Given the description of an element on the screen output the (x, y) to click on. 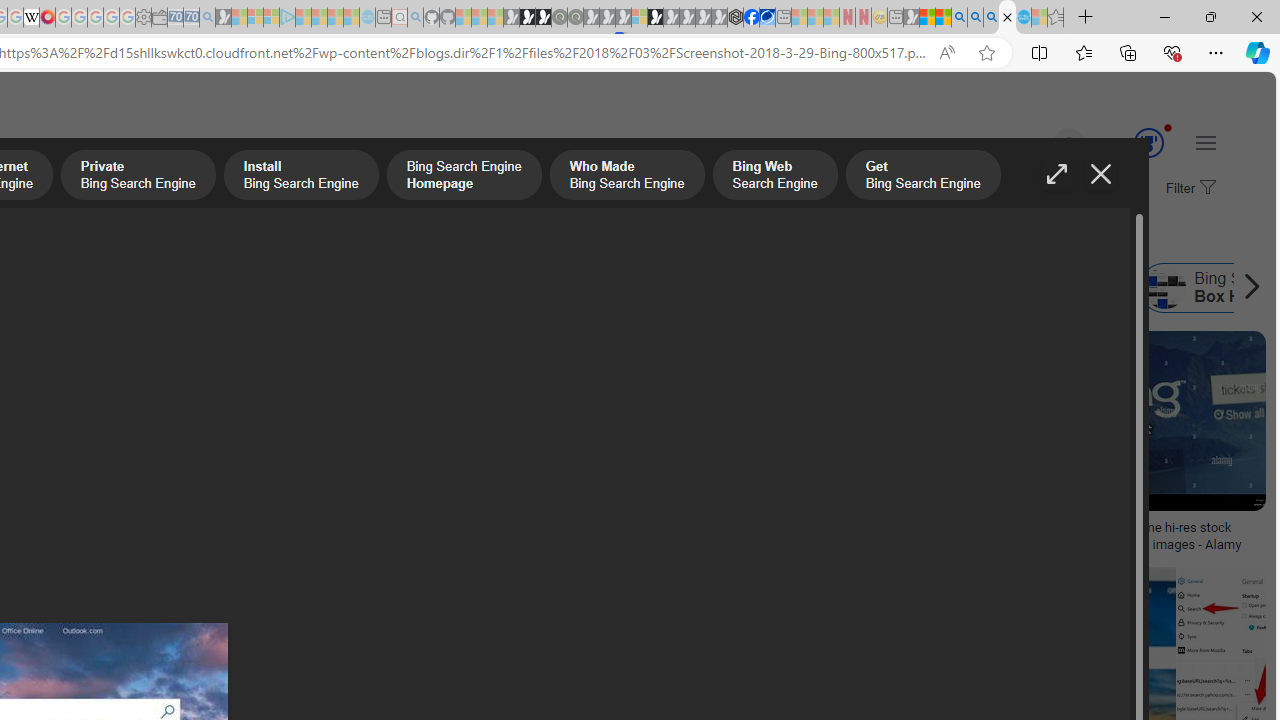
AutomationID: serp_medal_svg (1148, 142)
Target page - Wikipedia (31, 17)
Bing Web (910, 287)
Related ProductsT-ShirtsHoodiesMugs (136, 444)
Favorites - Sleeping (1055, 17)
Filter (1188, 189)
Who Made Bing Search Engine (434, 287)
AirNow.gov (767, 17)
Install Bing Search Engine (300, 177)
Sign in to your account - Sleeping (639, 17)
Settings - Sleeping (143, 17)
